Given the description of an element on the screen output the (x, y) to click on. 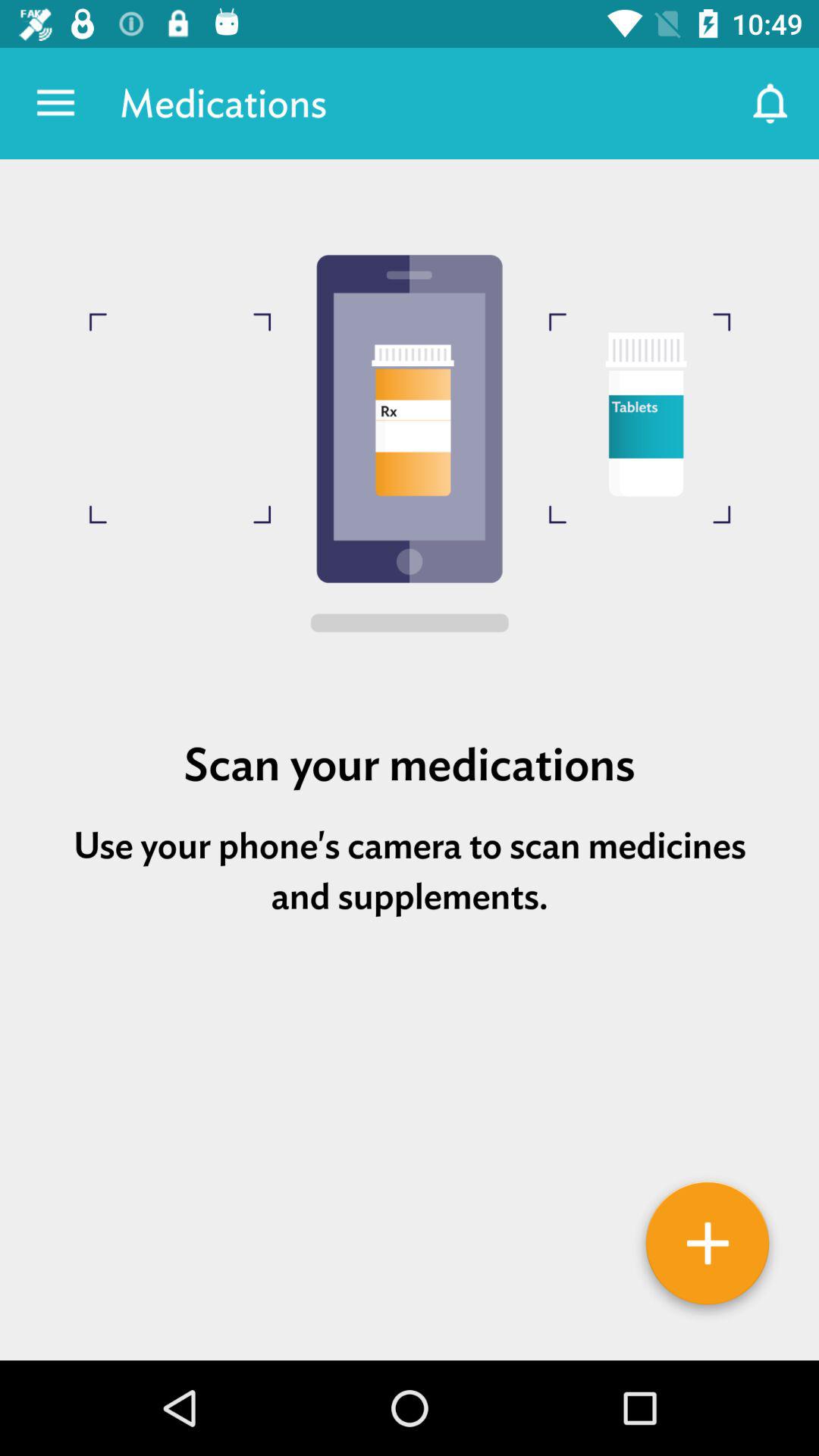
launch icon to the right of medications app (771, 103)
